Given the description of an element on the screen output the (x, y) to click on. 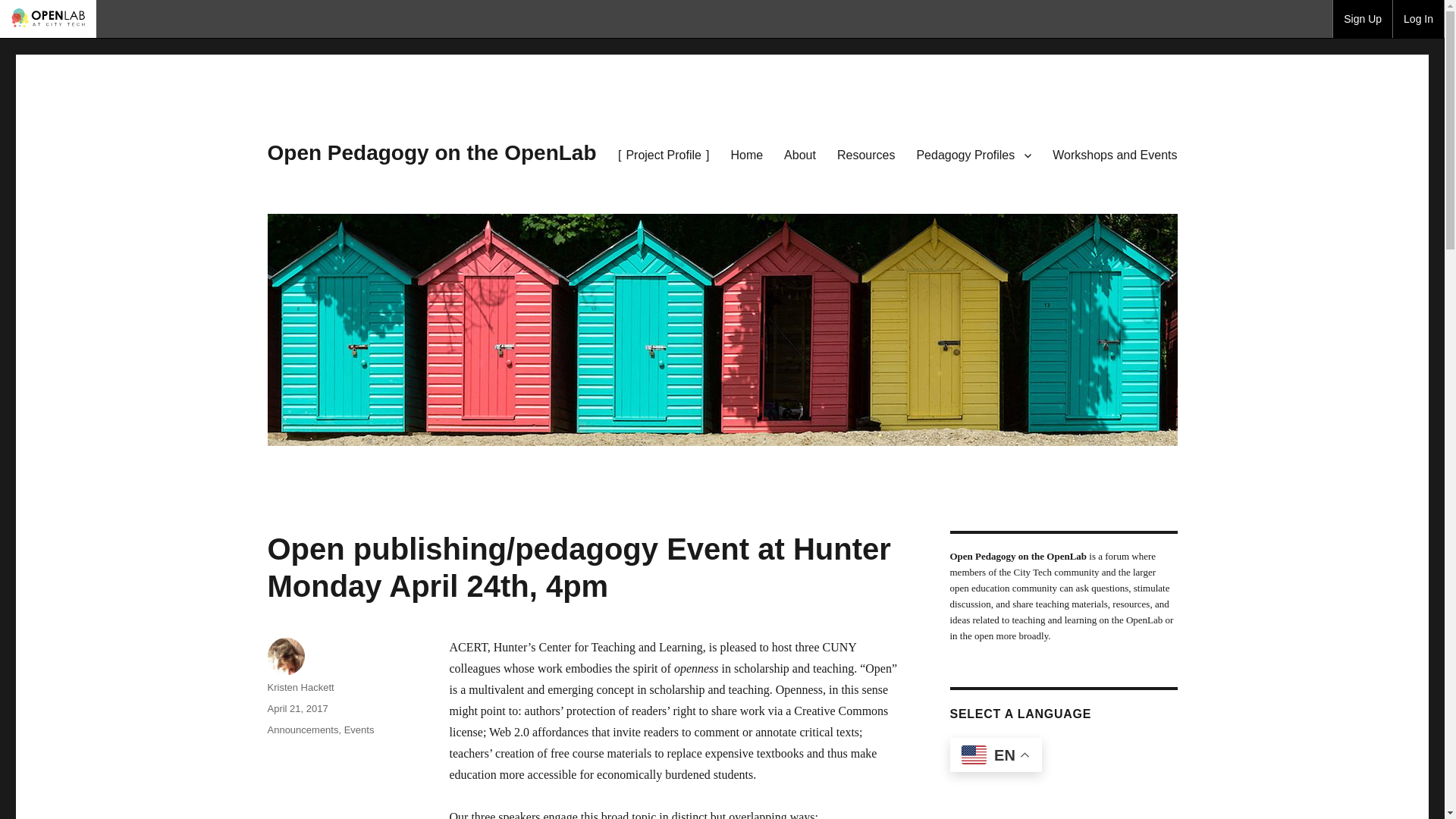
Resources (866, 155)
Sign Up (1362, 18)
Open Pedagogy on the OpenLab (430, 152)
Home (746, 155)
Workshops and Events (1115, 155)
Project Profile (663, 155)
About (800, 155)
Pedagogy Profiles (973, 155)
